Given the description of an element on the screen output the (x, y) to click on. 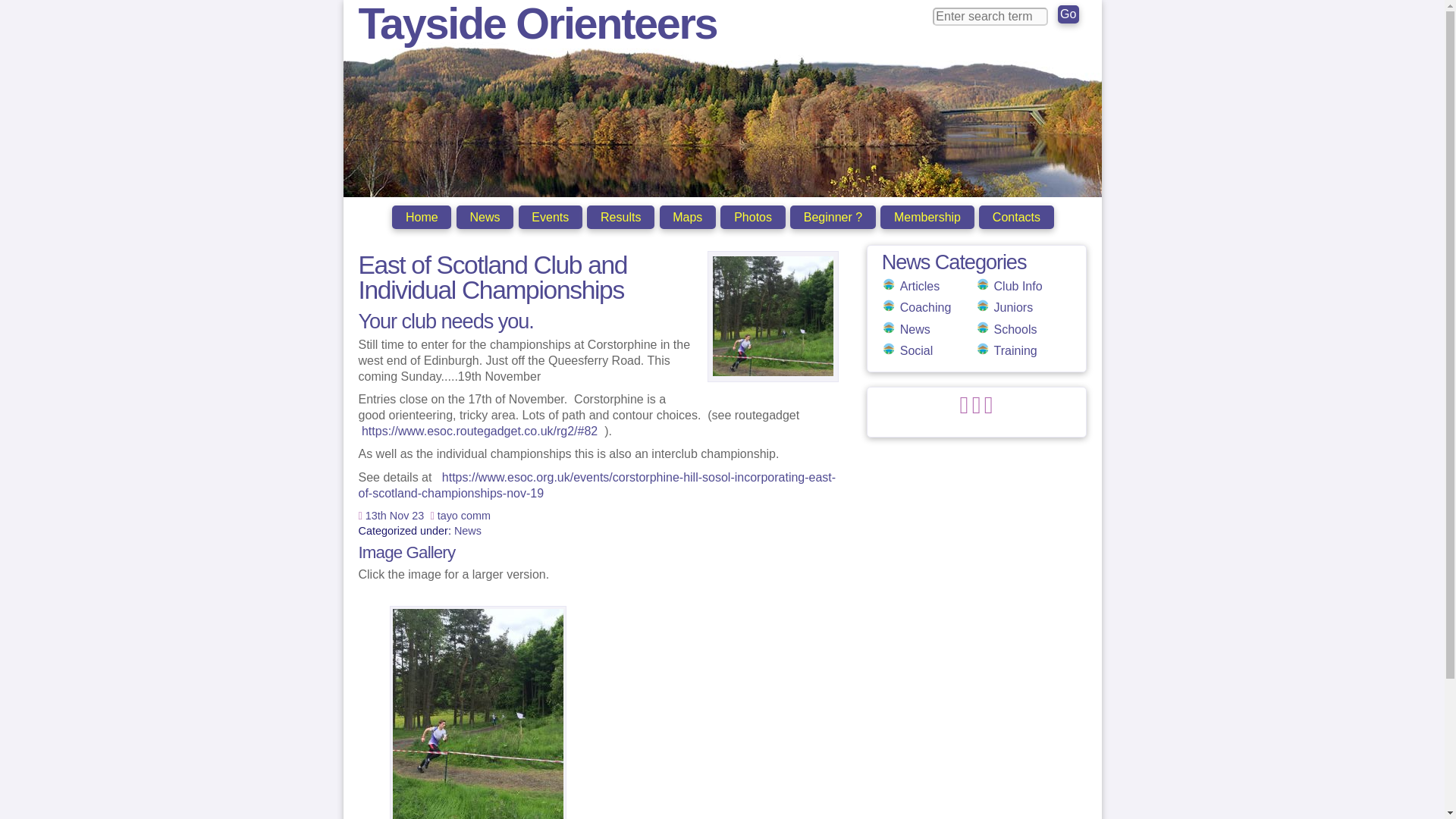
Photo Gallery (752, 217)
New to orienteering? (833, 217)
Beginner ? (833, 217)
Articles (919, 286)
Club Info (1018, 286)
East of Scotland Club and Individual Championships (492, 277)
Events (550, 217)
Results and Reports from previous events (619, 217)
Juniors (1013, 307)
Maps (687, 217)
Go (1068, 13)
Who to contact (1016, 217)
Home (421, 217)
Training (1015, 350)
Results (619, 217)
